Given the description of an element on the screen output the (x, y) to click on. 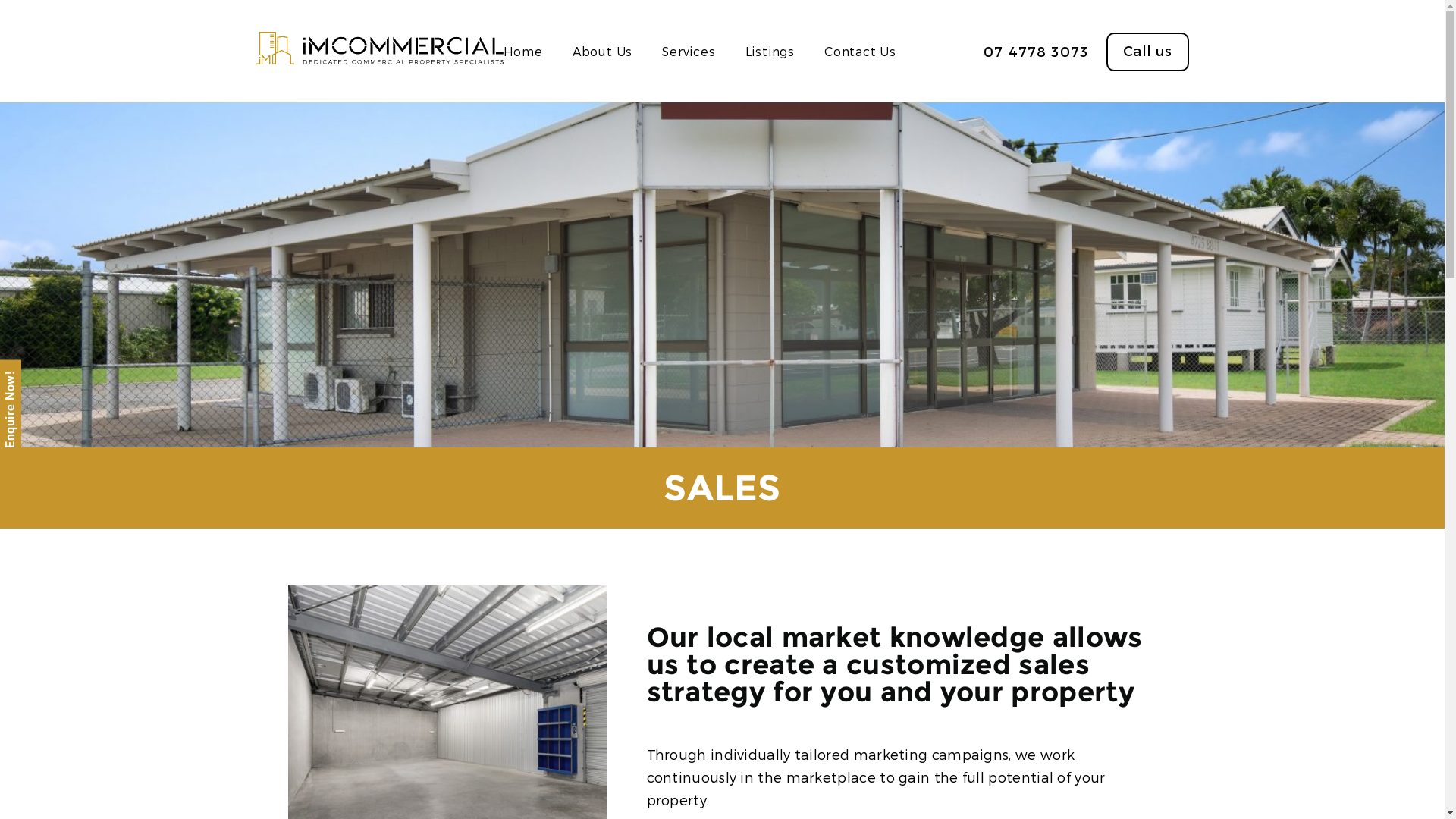
Listings Element type: text (769, 50)
Call us Element type: text (1147, 51)
Services Element type: text (688, 50)
About Us Element type: text (602, 50)
Home Element type: text (522, 50)
Contact Us Element type: text (860, 50)
